Given the description of an element on the screen output the (x, y) to click on. 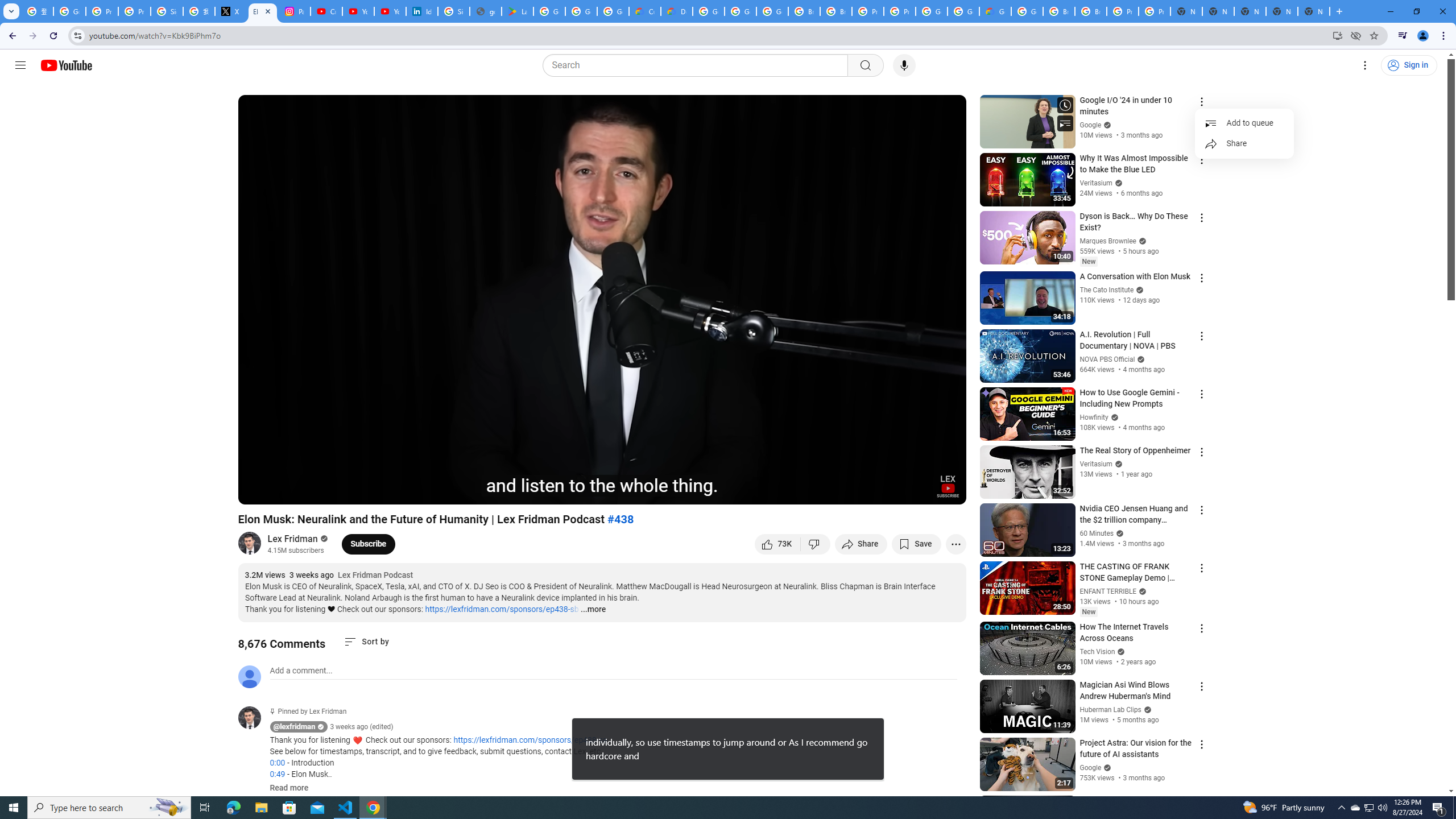
Next (SHIFT+n) (284, 490)
Google Cloud Estimate Summary (995, 11)
New Tab (1313, 11)
Subtitles/closed captions unavailable (836, 490)
Save to playlist (915, 543)
Google Cloud Platform (1027, 11)
Channel watermark (947, 486)
